Given the description of an element on the screen output the (x, y) to click on. 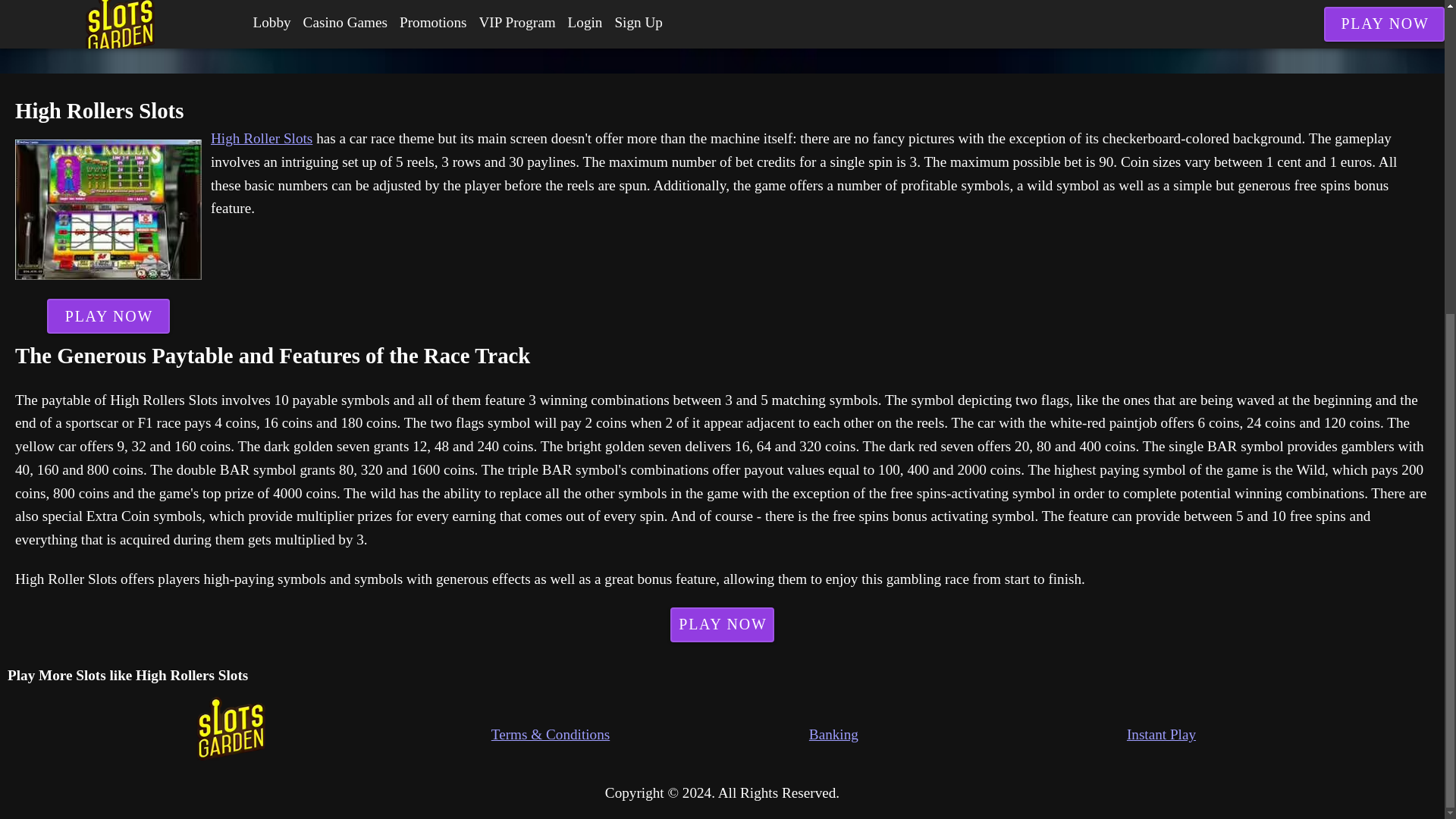
Banking (967, 734)
PLAY NOW (108, 315)
PLAY NOW (721, 624)
High Roller Slots (262, 138)
